Given the description of an element on the screen output the (x, y) to click on. 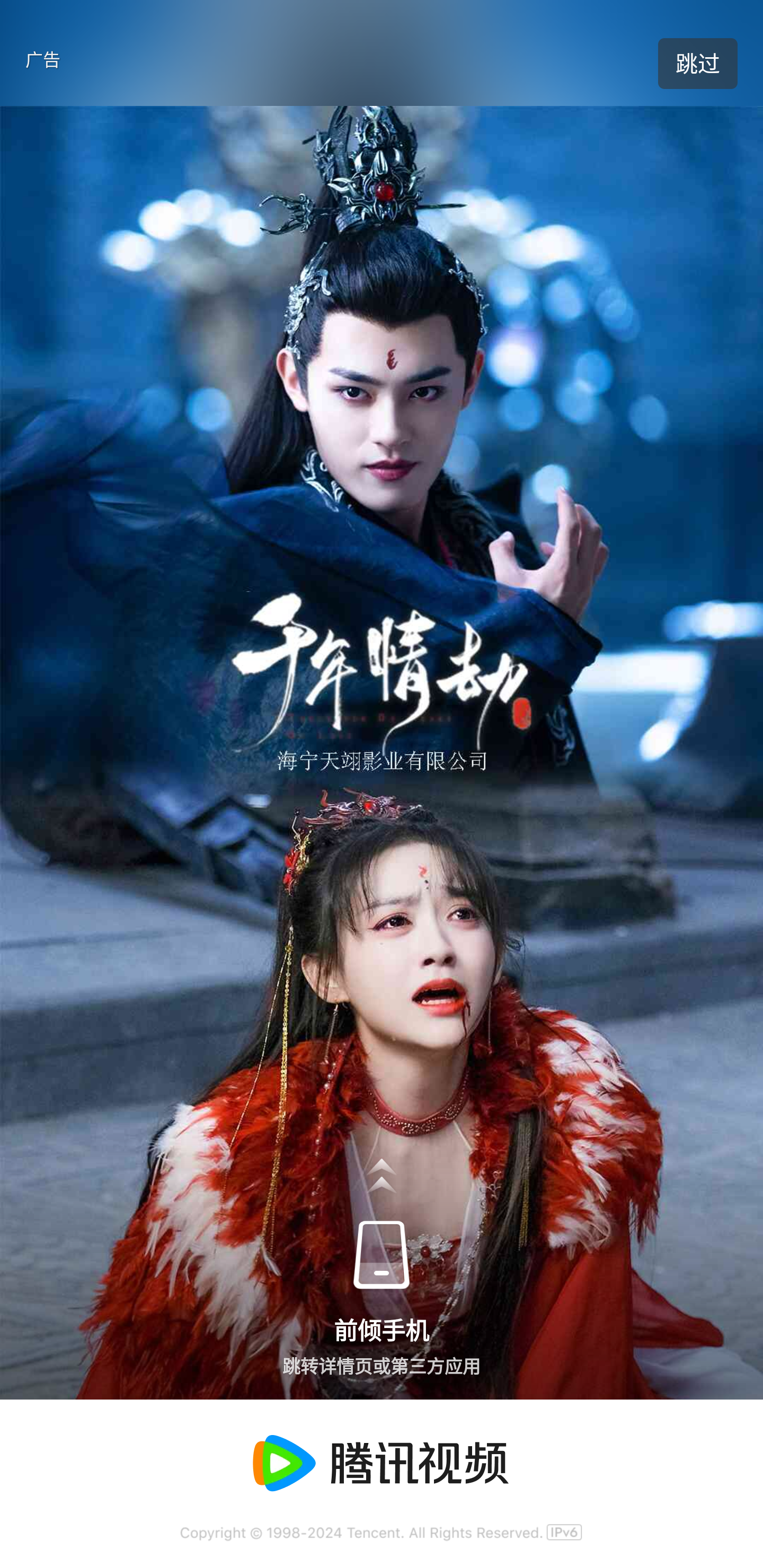
首页 (47, 77)
跳过 (697, 63)
